Given the description of an element on the screen output the (x, y) to click on. 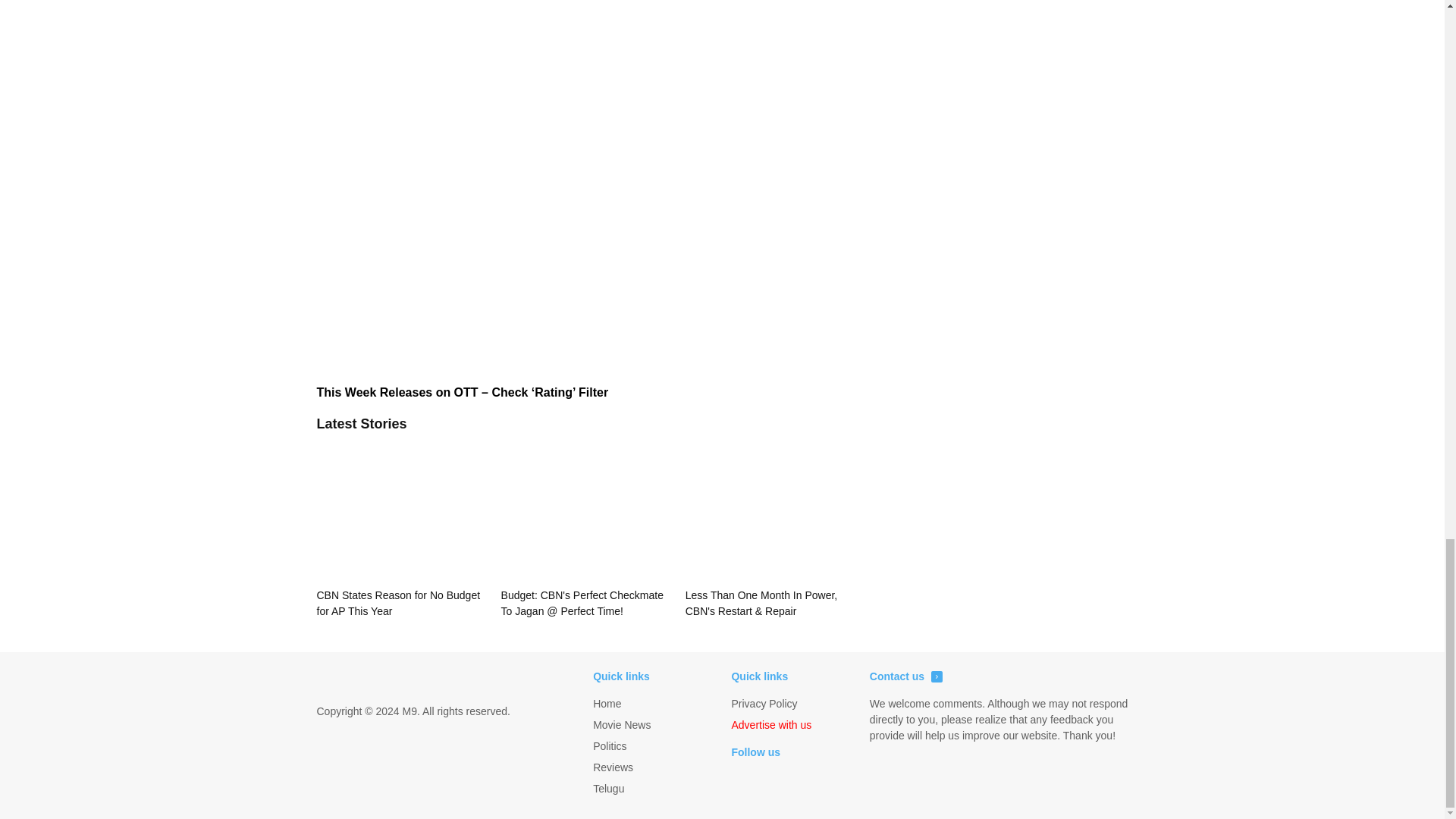
CBN States Reason for No Budget for AP This Year (400, 529)
